Given the description of an element on the screen output the (x, y) to click on. 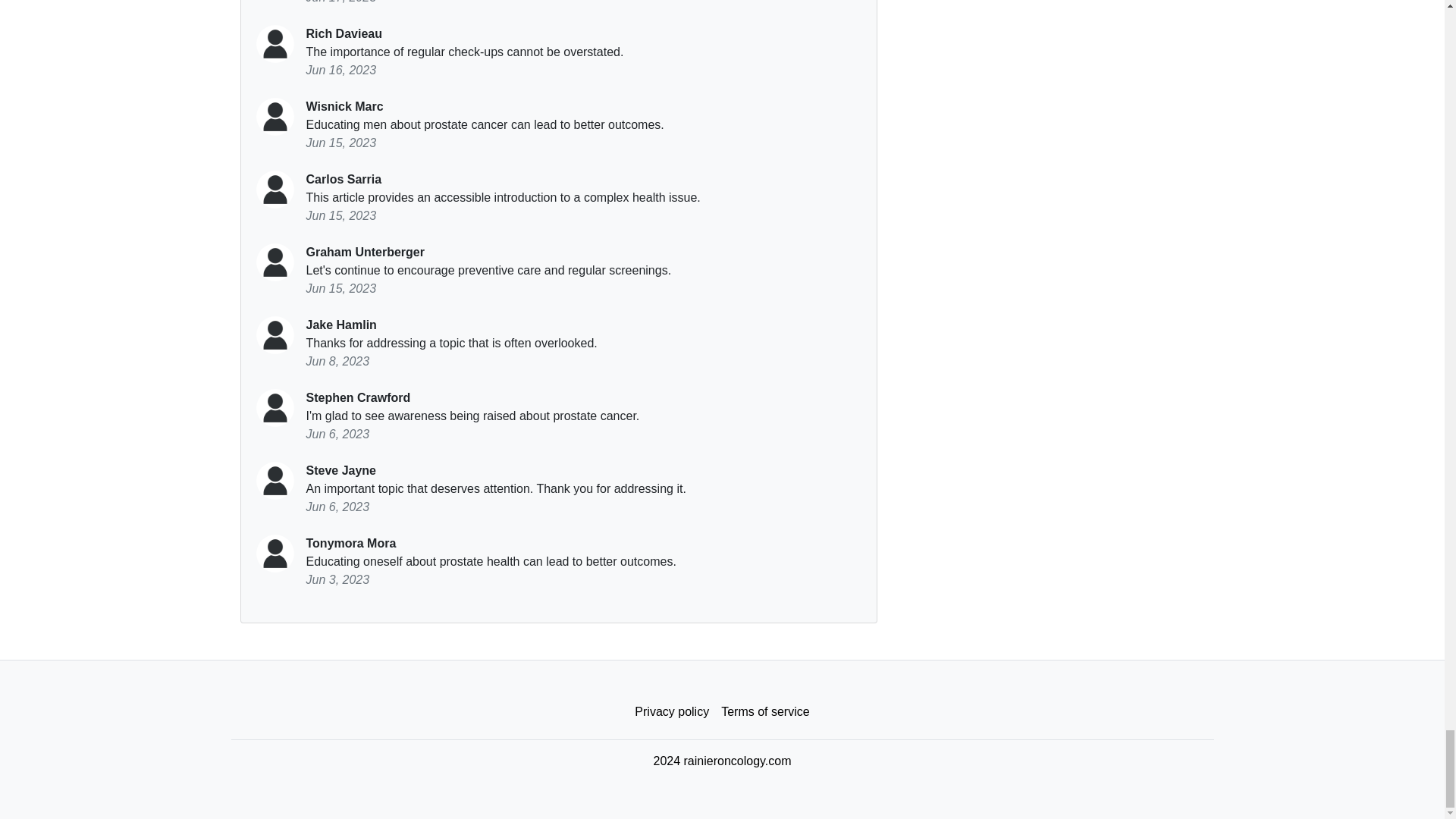
Terms of service (764, 711)
Privacy policy (671, 711)
